Given the description of an element on the screen output the (x, y) to click on. 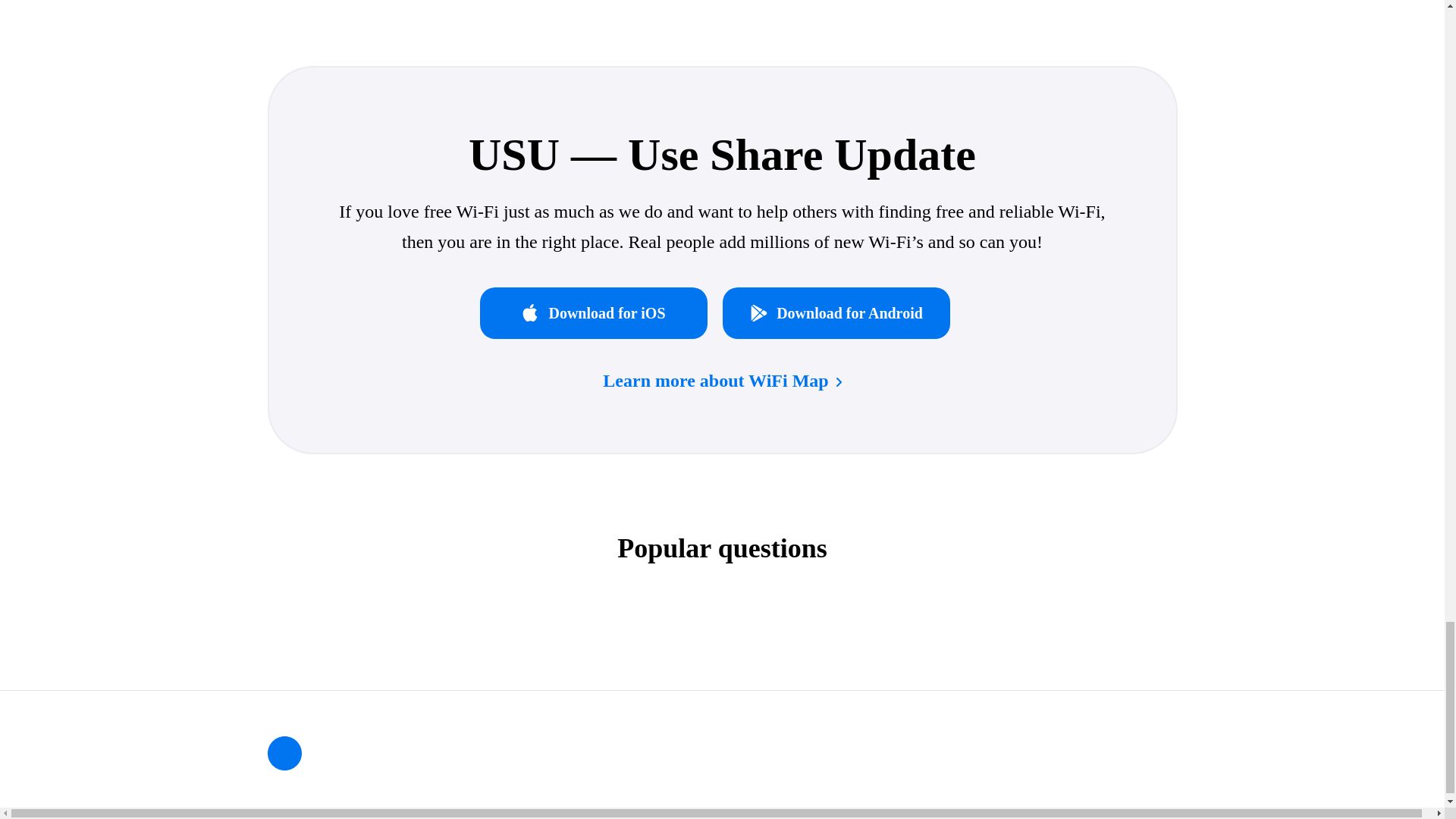
Learn more about WiFi Map (721, 380)
Download for Android (842, 313)
Download for iOS (600, 313)
